Given the description of an element on the screen output the (x, y) to click on. 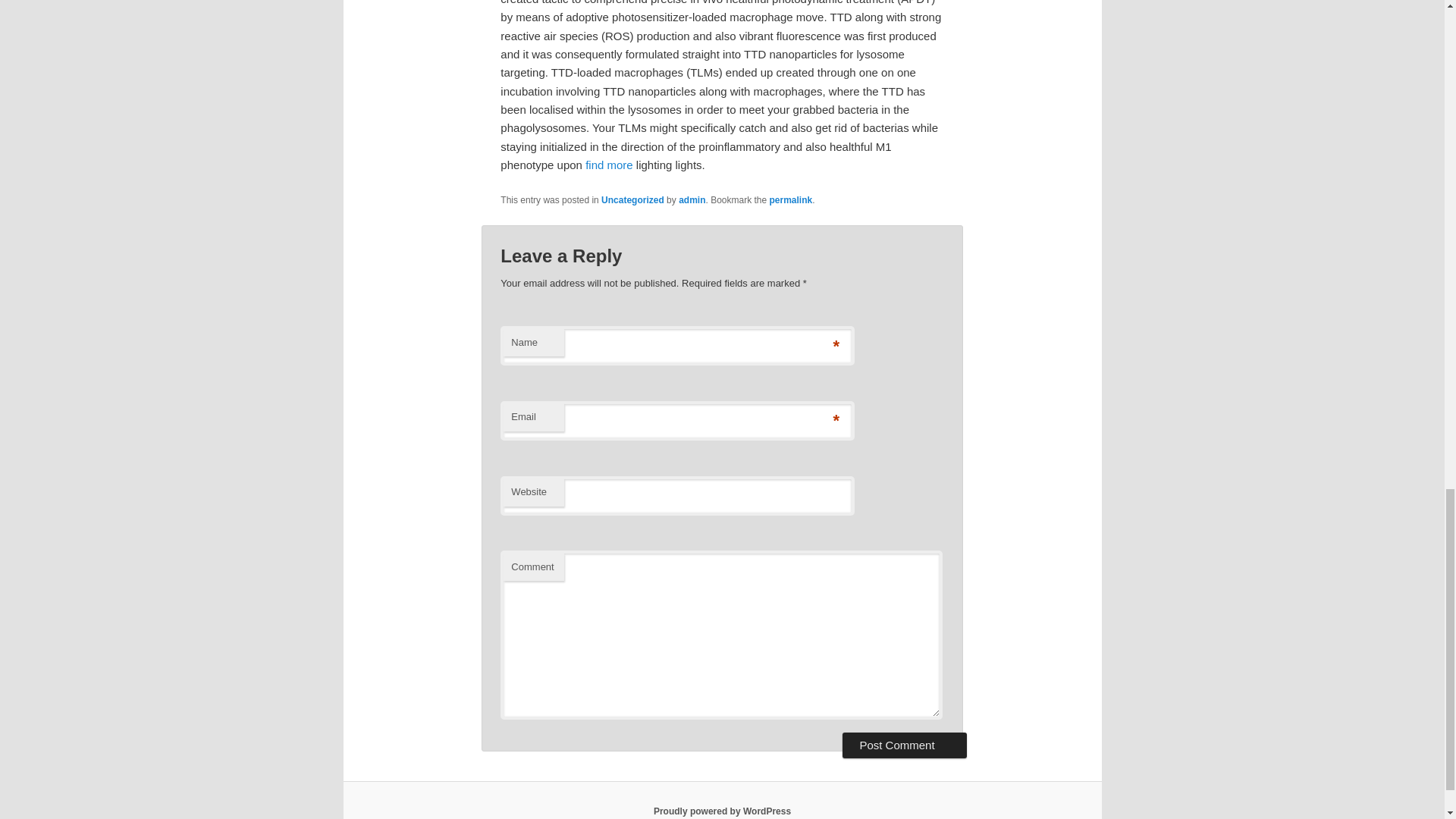
permalink (791, 199)
Proudly powered by WordPress (721, 810)
Semantic Personal Publishing Platform (721, 810)
View all posts in Uncategorized (632, 199)
admin (691, 199)
find more (609, 164)
Post Comment (904, 745)
Uncategorized (632, 199)
Permalink to Autism, Remedy along with COVID-19. (791, 199)
Post Comment (904, 745)
